Given the description of an element on the screen output the (x, y) to click on. 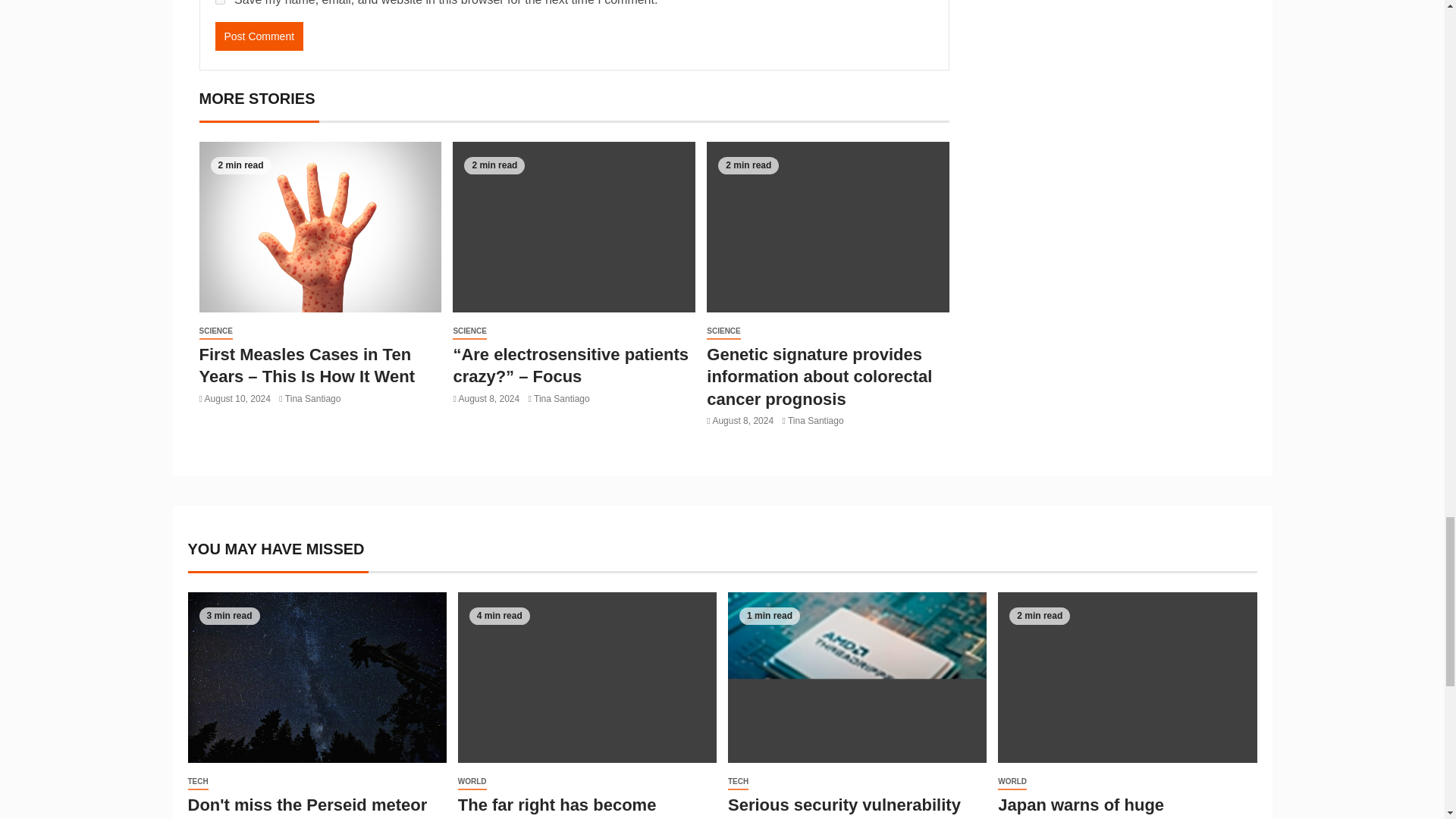
Post Comment (259, 36)
SCIENCE (214, 331)
yes (220, 2)
Post Comment (259, 36)
